Given the description of an element on the screen output the (x, y) to click on. 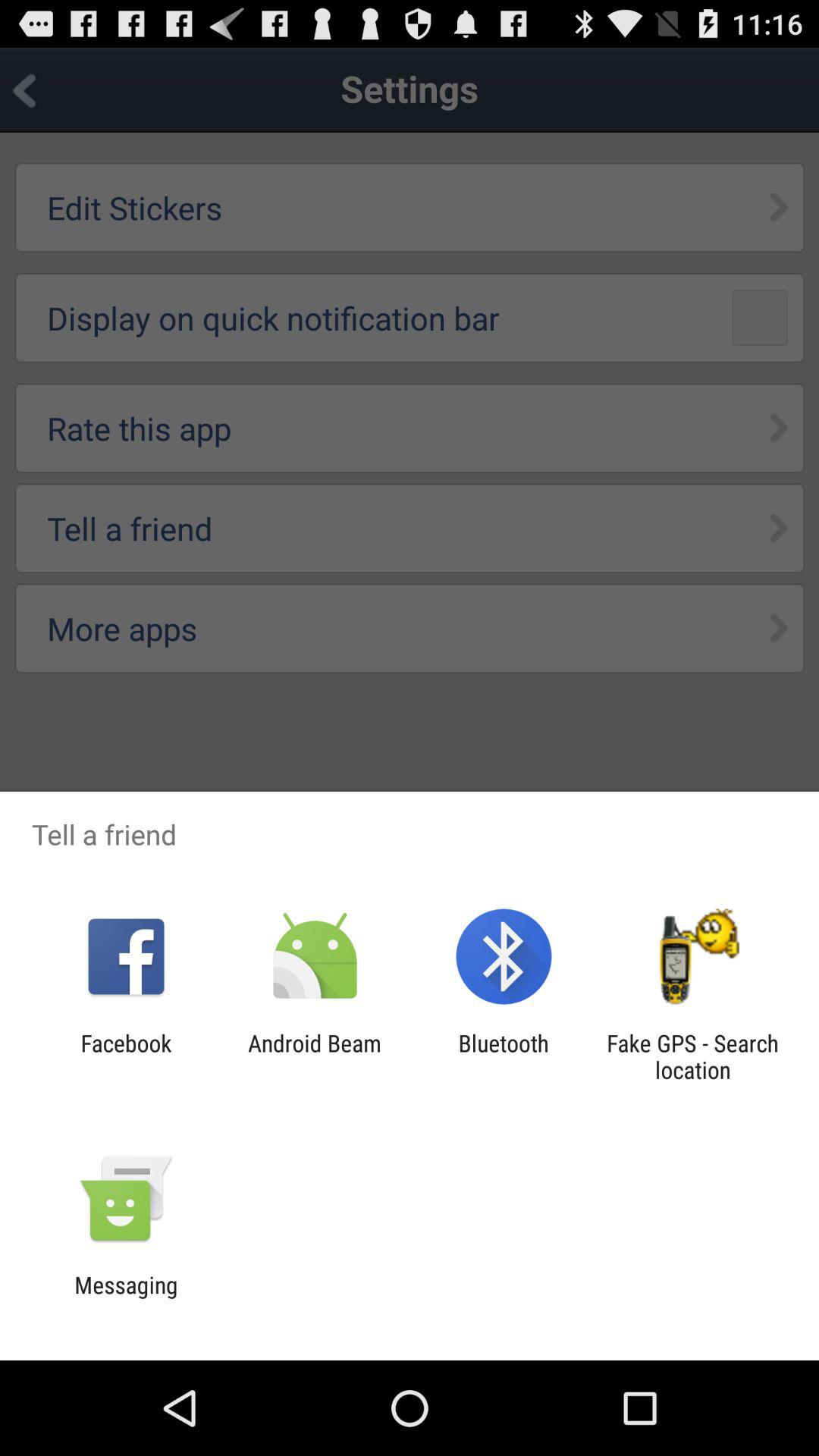
tap icon to the right of the android beam icon (503, 1056)
